Given the description of an element on the screen output the (x, y) to click on. 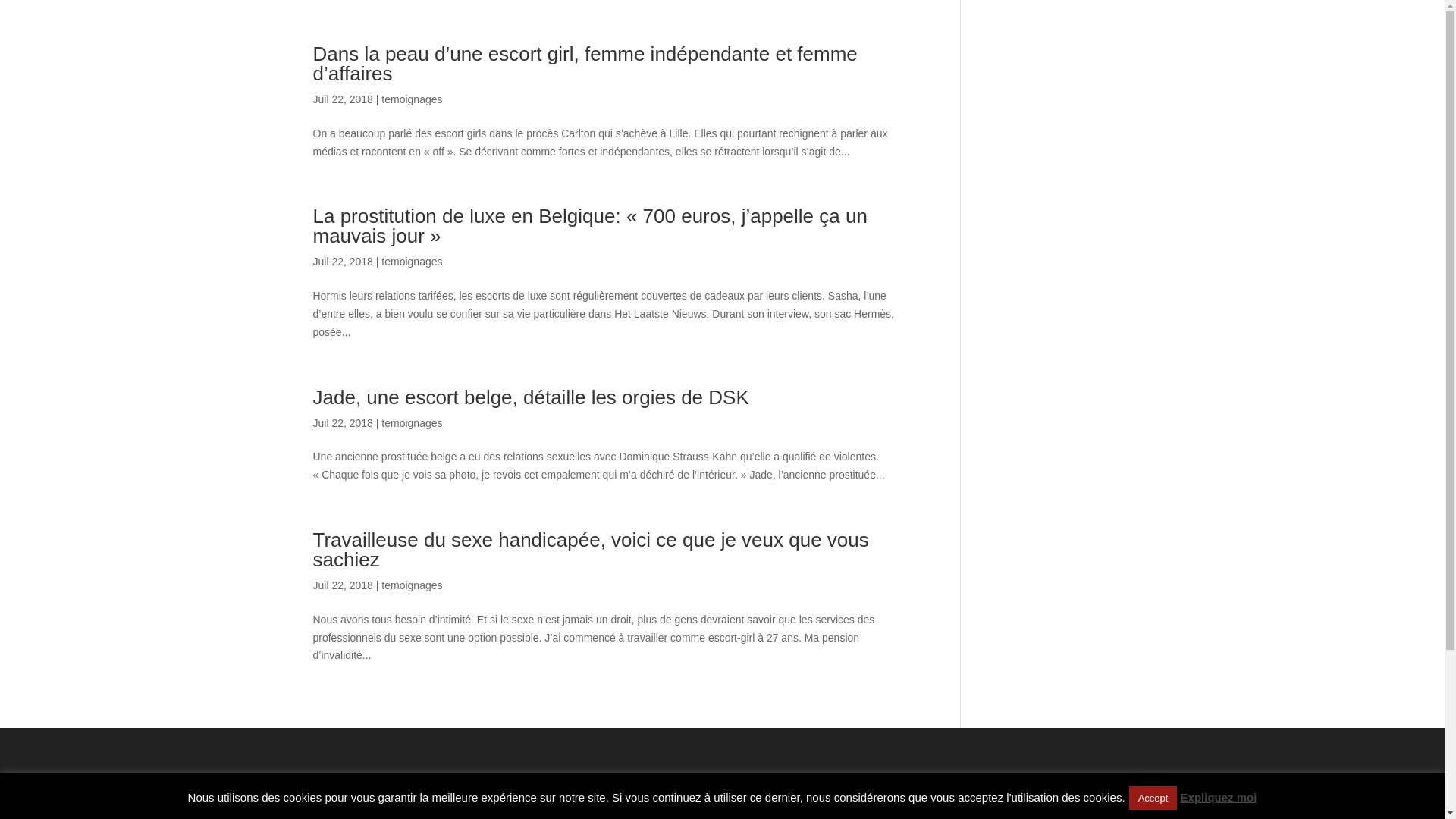
temoignages Element type: text (411, 99)
Accept Element type: text (1153, 797)
temoignages Element type: text (411, 423)
Avocat pas cher Element type: text (360, 809)
temoignages Element type: text (411, 261)
Expliquez moi Element type: text (1218, 797)
temoignages Element type: text (411, 585)
